Given the description of an element on the screen output the (x, y) to click on. 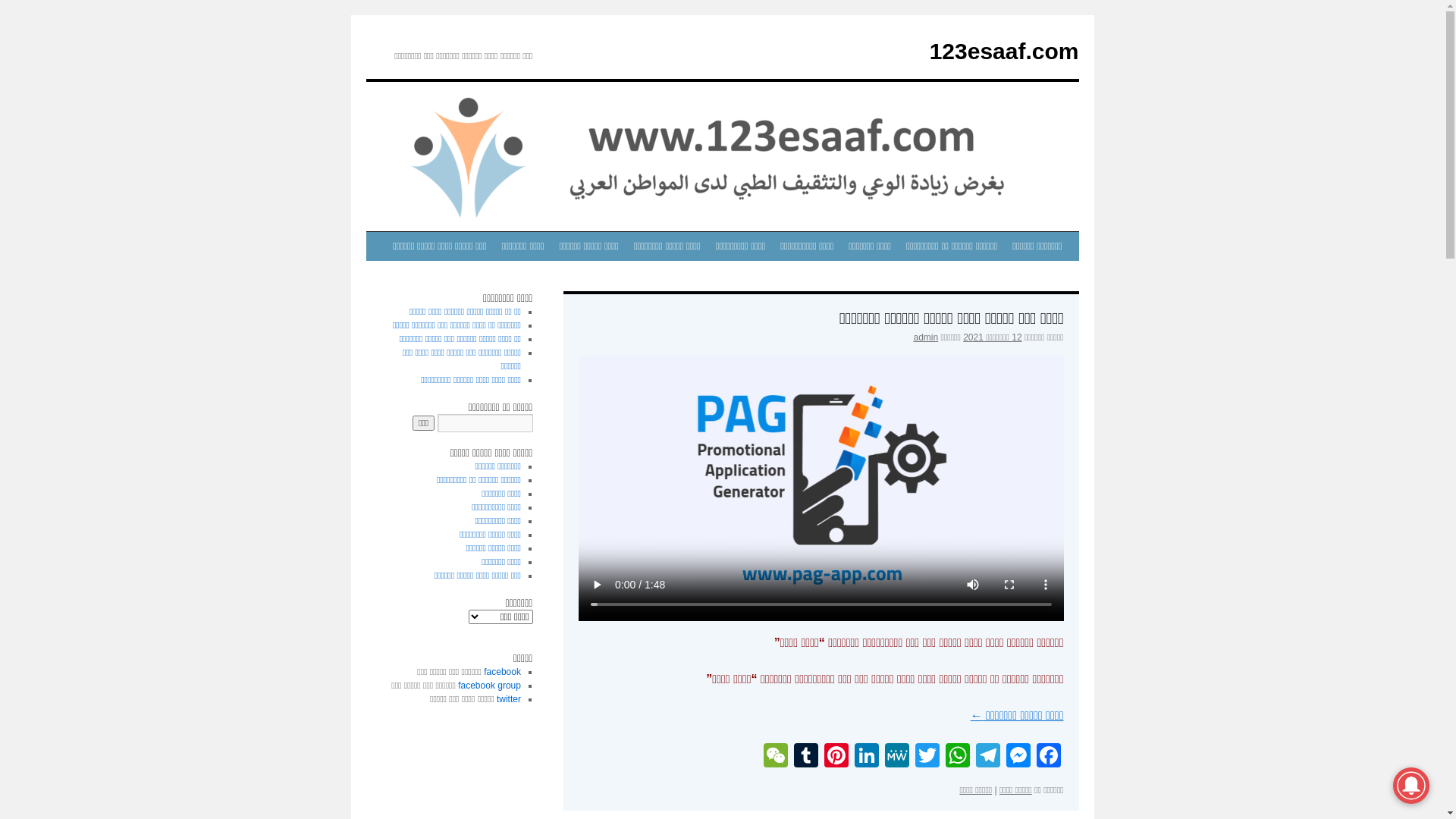
facebook Element type: text (501, 671)
WeChat Element type: text (774, 757)
Twitter Element type: text (926, 757)
Facebook Element type: text (1047, 757)
Pinterest Element type: text (835, 757)
WhatsApp Element type: text (956, 757)
MeWe Element type: text (896, 757)
Tumblr Element type: text (805, 757)
LinkedIn Element type: text (865, 757)
123esaaf.com Element type: text (1004, 50)
twitter Element type: text (508, 698)
admin Element type: text (925, 337)
Telegram Element type: text (987, 757)
facebook group Element type: text (489, 685)
Messenger Element type: text (1017, 757)
